Given the description of an element on the screen output the (x, y) to click on. 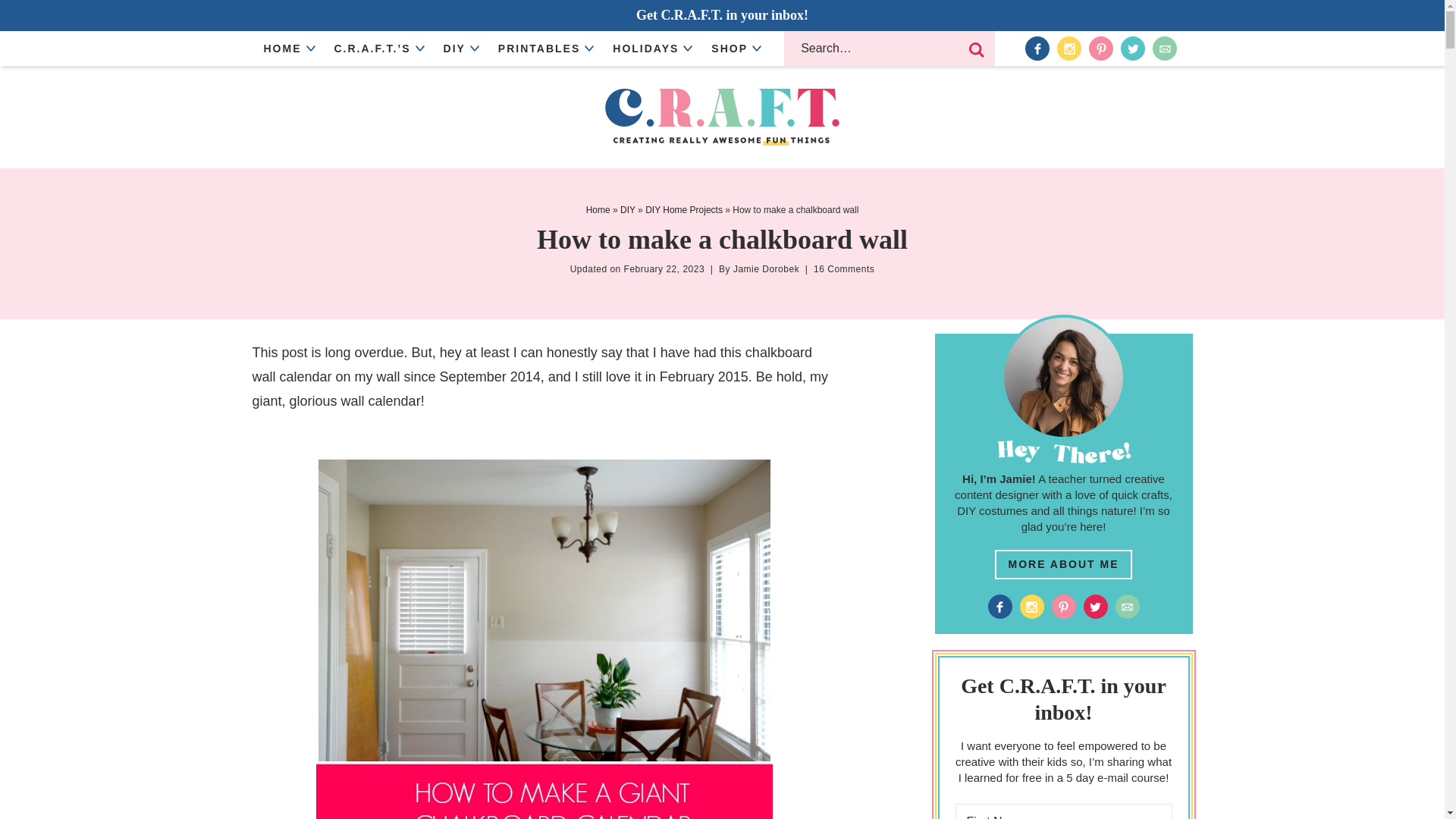
DIY (459, 48)
PRINTABLES (543, 48)
HOME (286, 48)
Search for (889, 48)
